Given the description of an element on the screen output the (x, y) to click on. 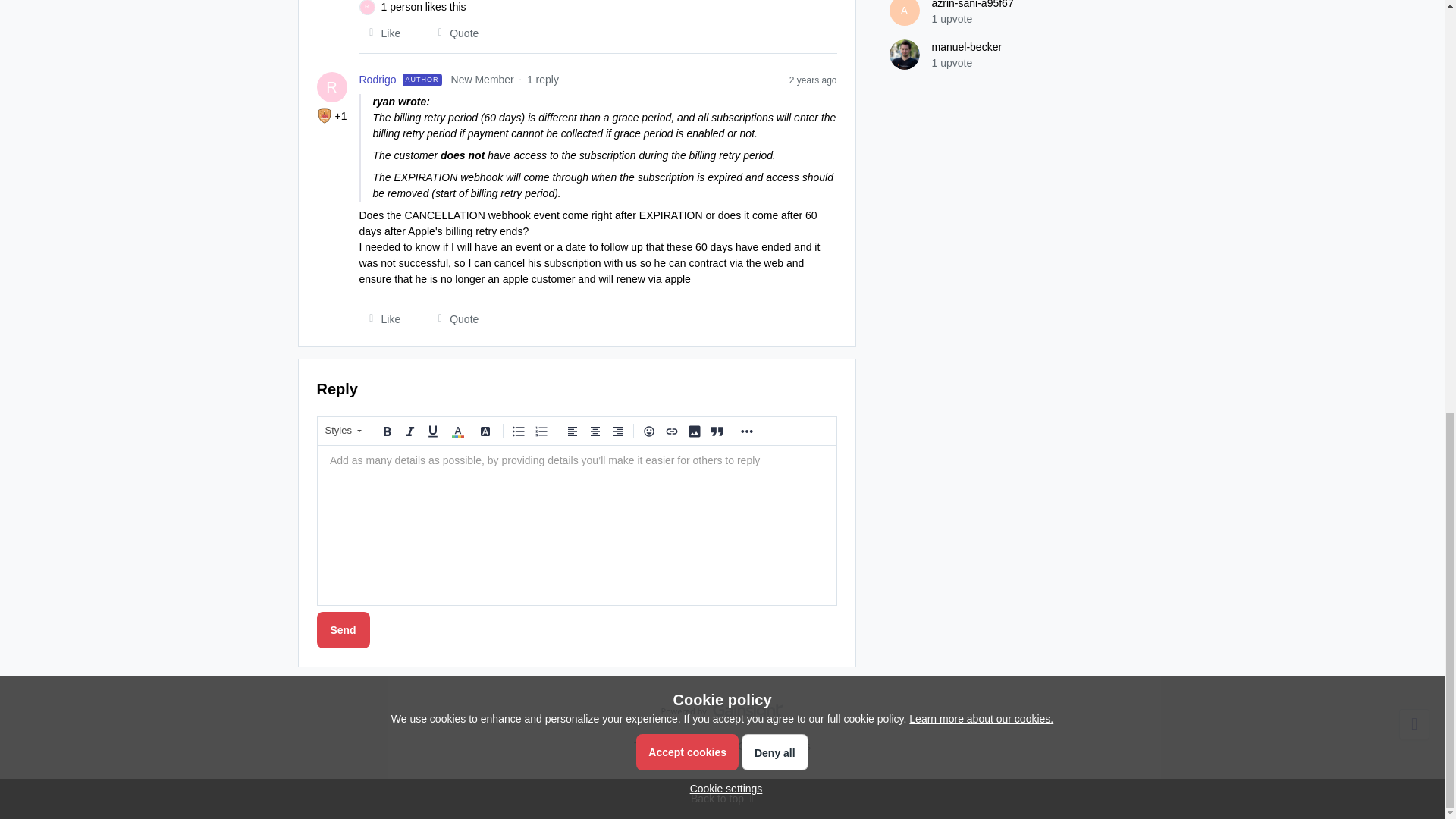
Back to top (722, 798)
